Given the description of an element on the screen output the (x, y) to click on. 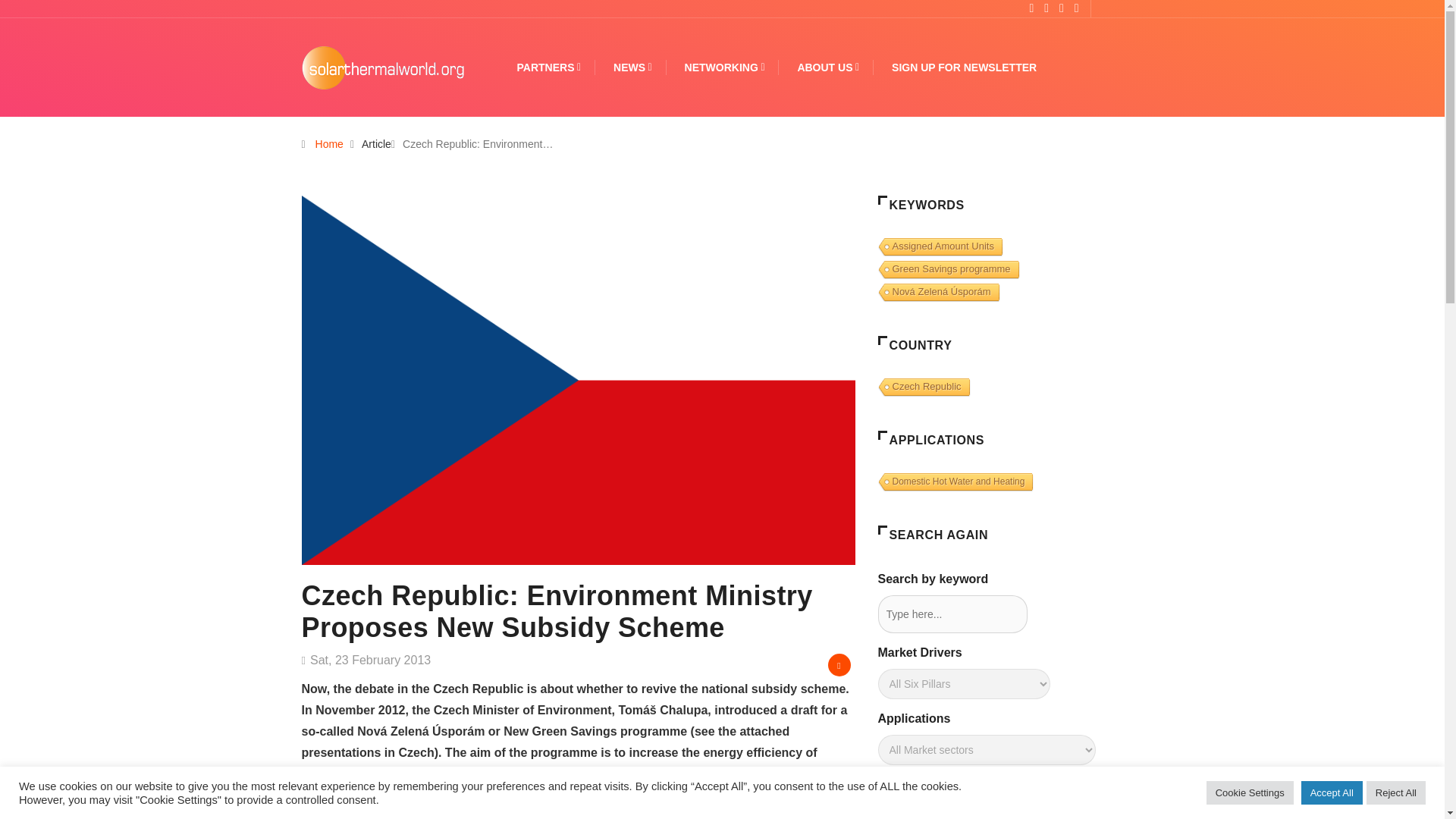
Domestic Hot Water and Heating (954, 482)
Green Savings programme (946, 270)
Assigned Amount Units (938, 247)
Czech Republic (922, 387)
SIGN UP FOR NEWSLETTER (963, 67)
Home (329, 143)
